Given the description of an element on the screen output the (x, y) to click on. 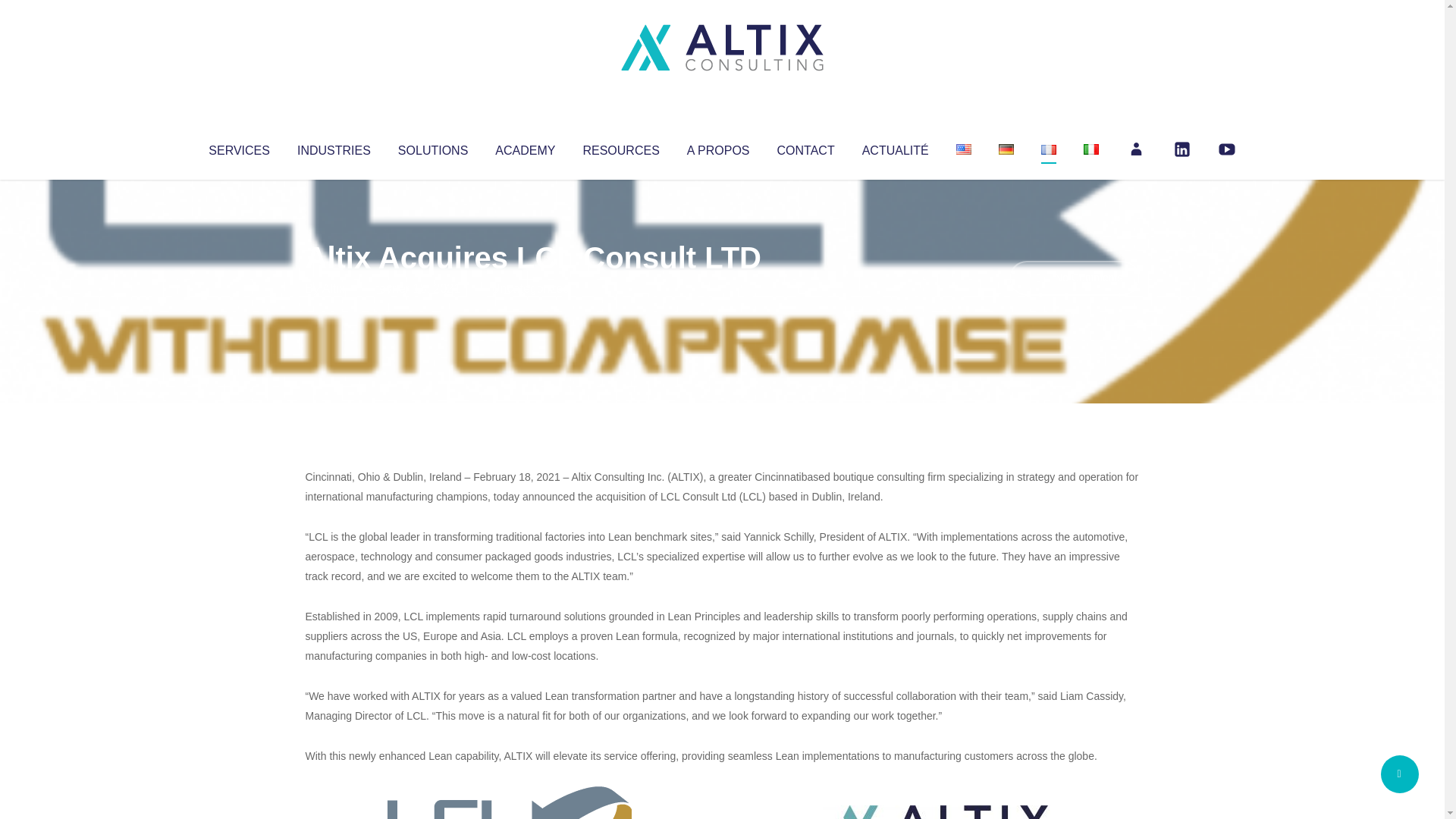
SOLUTIONS (432, 146)
ACADEMY (524, 146)
Articles par Altix (333, 287)
A PROPOS (718, 146)
Uncategorized (530, 287)
Altix (333, 287)
INDUSTRIES (334, 146)
SERVICES (238, 146)
No Comments (1073, 278)
RESOURCES (620, 146)
